Given the description of an element on the screen output the (x, y) to click on. 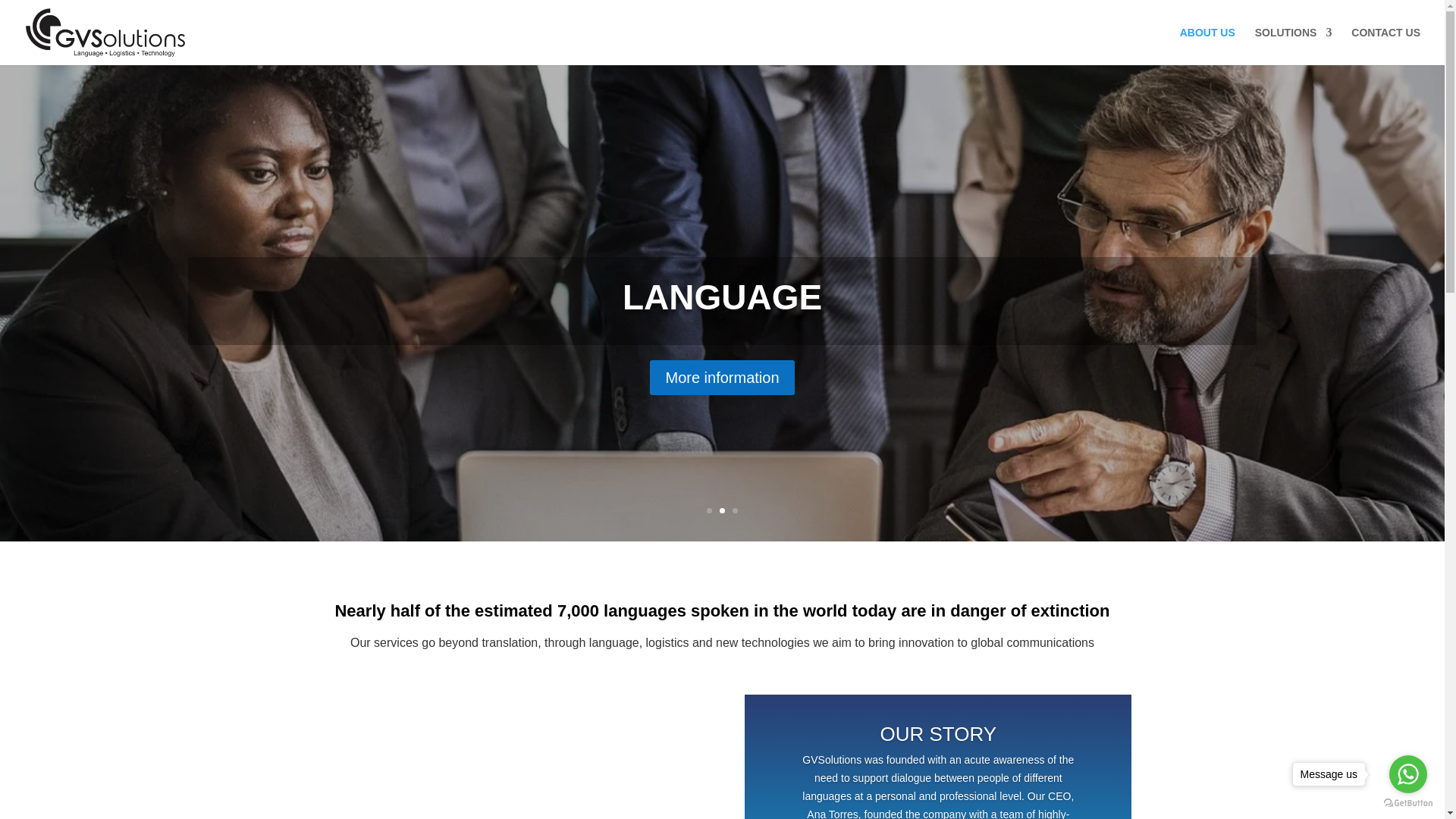
1 (708, 510)
Introduction Video - CEO GV Solutions LLC (505, 756)
SOLUTIONS (1293, 46)
ABOUT US (1206, 46)
3 (735, 510)
2 (722, 510)
CONTACT US (1386, 46)
